Given the description of an element on the screen output the (x, y) to click on. 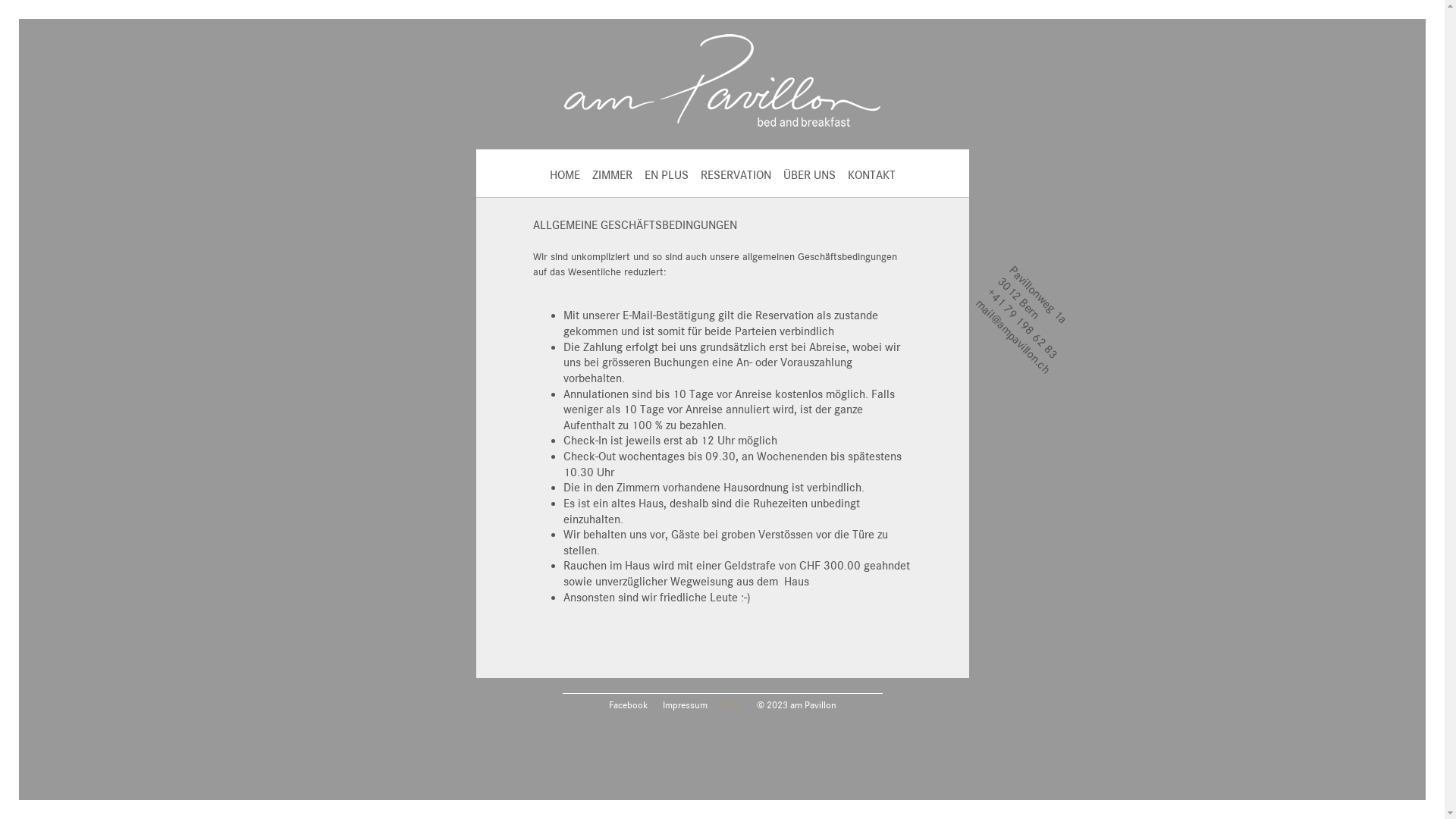
RESERVATION Element type: text (735, 175)
HOME Element type: text (564, 175)
EN PLUS Element type: text (666, 175)
KONTAKT Element type: text (871, 175)
+41 79 198 62 83 Element type: text (1030, 292)
Impressum Element type: text (684, 704)
ZIMMER Element type: text (611, 175)
mail@ampavillon.ch Element type: text (1022, 303)
Facebook Element type: text (627, 704)
AGB Element type: text (729, 704)
